Given the description of an element on the screen output the (x, y) to click on. 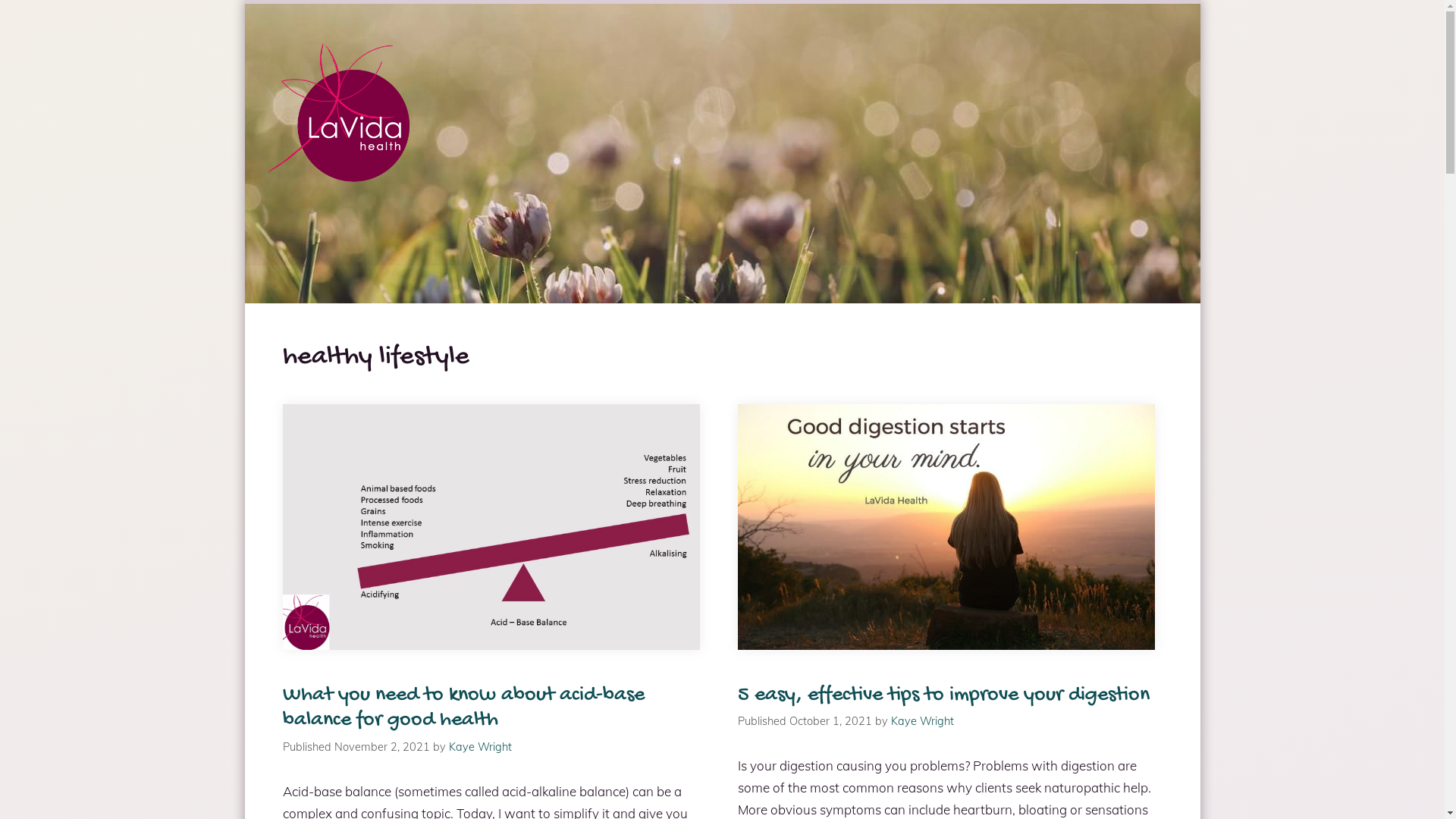
Kaye Wright Element type: text (921, 720)
5 easy, effective tips to improve your digestion Element type: text (942, 694)
Kaye Wright Element type: text (479, 746)
